Given the description of an element on the screen output the (x, y) to click on. 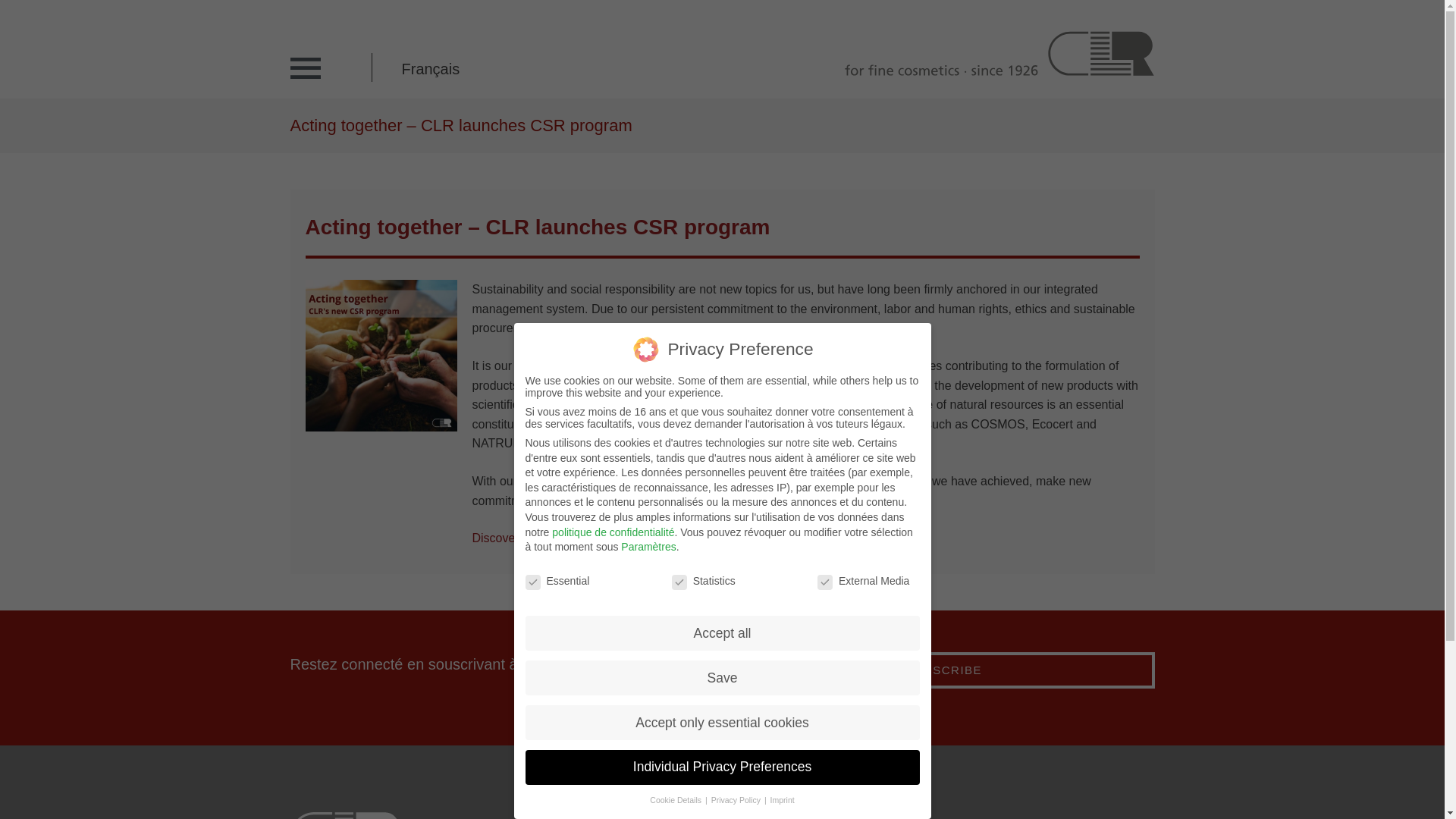
CLR Berlin (994, 52)
SUBSCRIBE (943, 669)
Discover our CSR program! (546, 537)
CLR Berlin (994, 52)
